Given the description of an element on the screen output the (x, y) to click on. 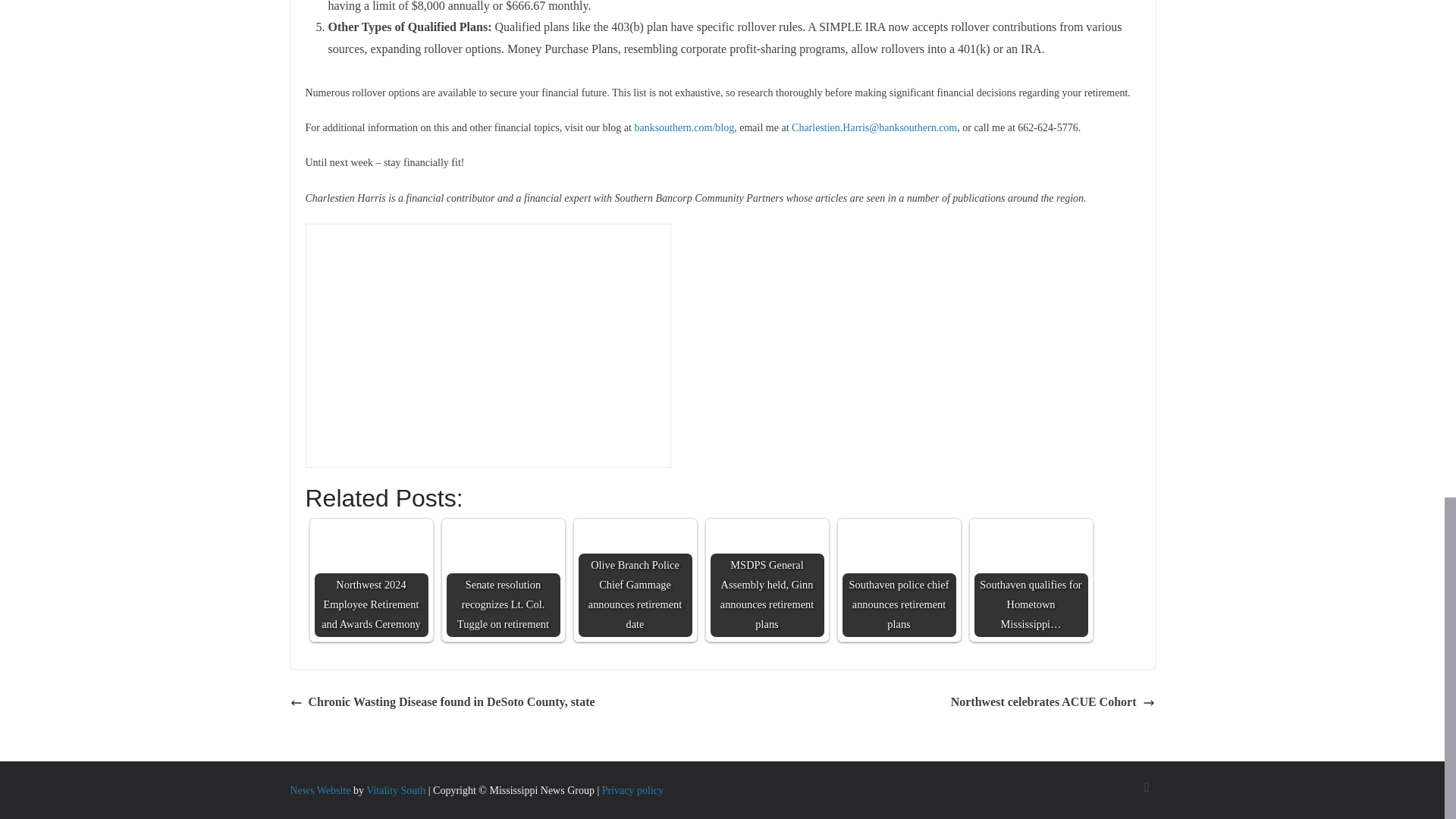
MSDPS General Assembly held, Ginn announces retirement plans (767, 580)
Olive Branch Police Chief Gammage announces retirement date (634, 580)
Northwest 2024 Employee Retirement and Awards Ceremony (371, 580)
Senate resolution recognizes Lt. Col. Tuggle on retirement (502, 580)
Southaven police chief announces retirement plans (898, 580)
